Given the description of an element on the screen output the (x, y) to click on. 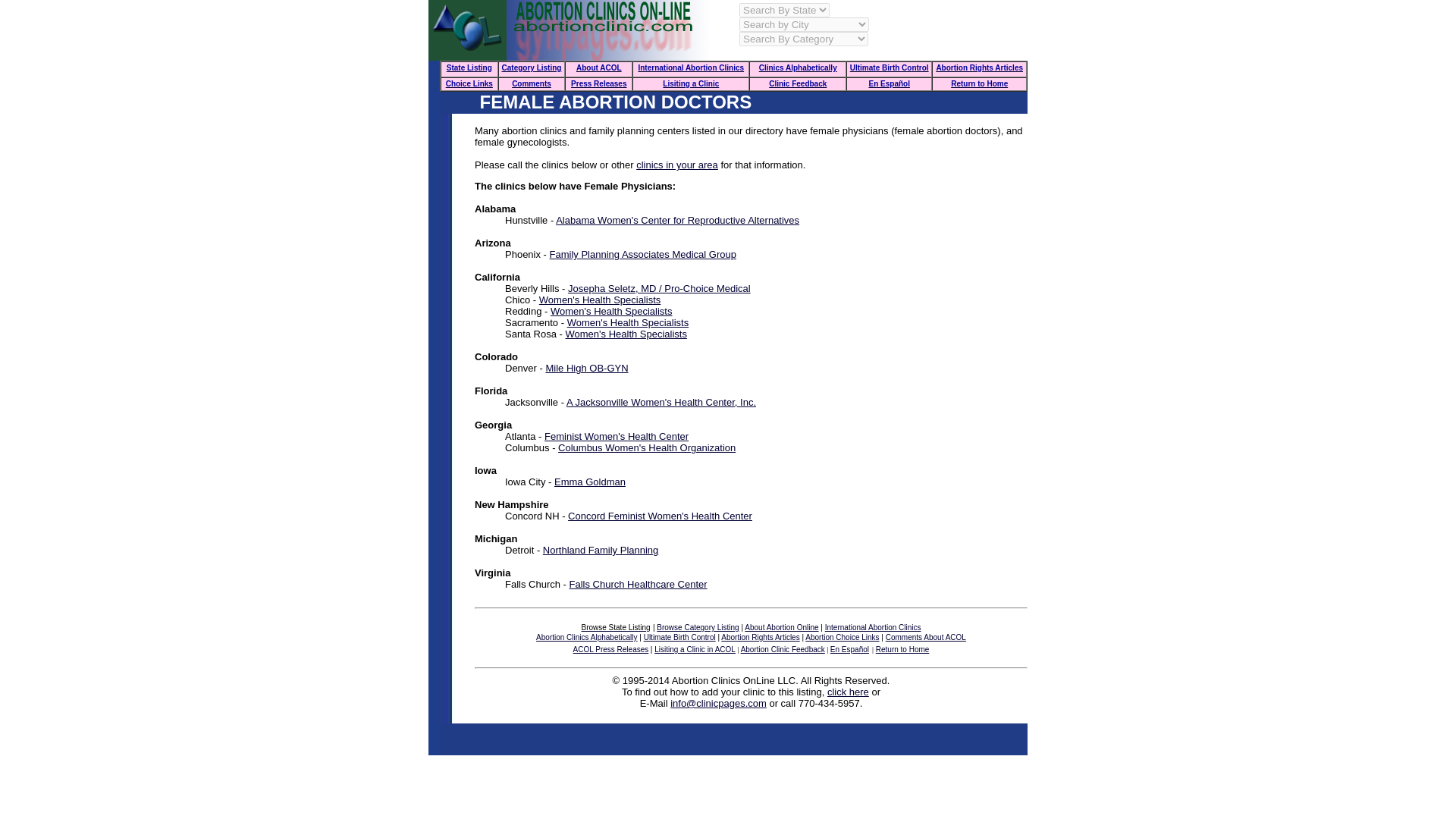
Clinic Feedback (797, 82)
Falls Church Healthcare Center (638, 583)
About ACOL (598, 66)
Category Listing (532, 66)
State Listing (469, 66)
Women's Health Specialists (627, 322)
Family Planning Associates Medical Group (643, 254)
Lisiting a Clinic (690, 82)
Columbus Women's Health Organization (646, 447)
Comments About ACOL (925, 637)
Alabama Women's Center for Reproductive Alternatives (677, 220)
ACOL Press Releases (611, 649)
